Given the description of an element on the screen output the (x, y) to click on. 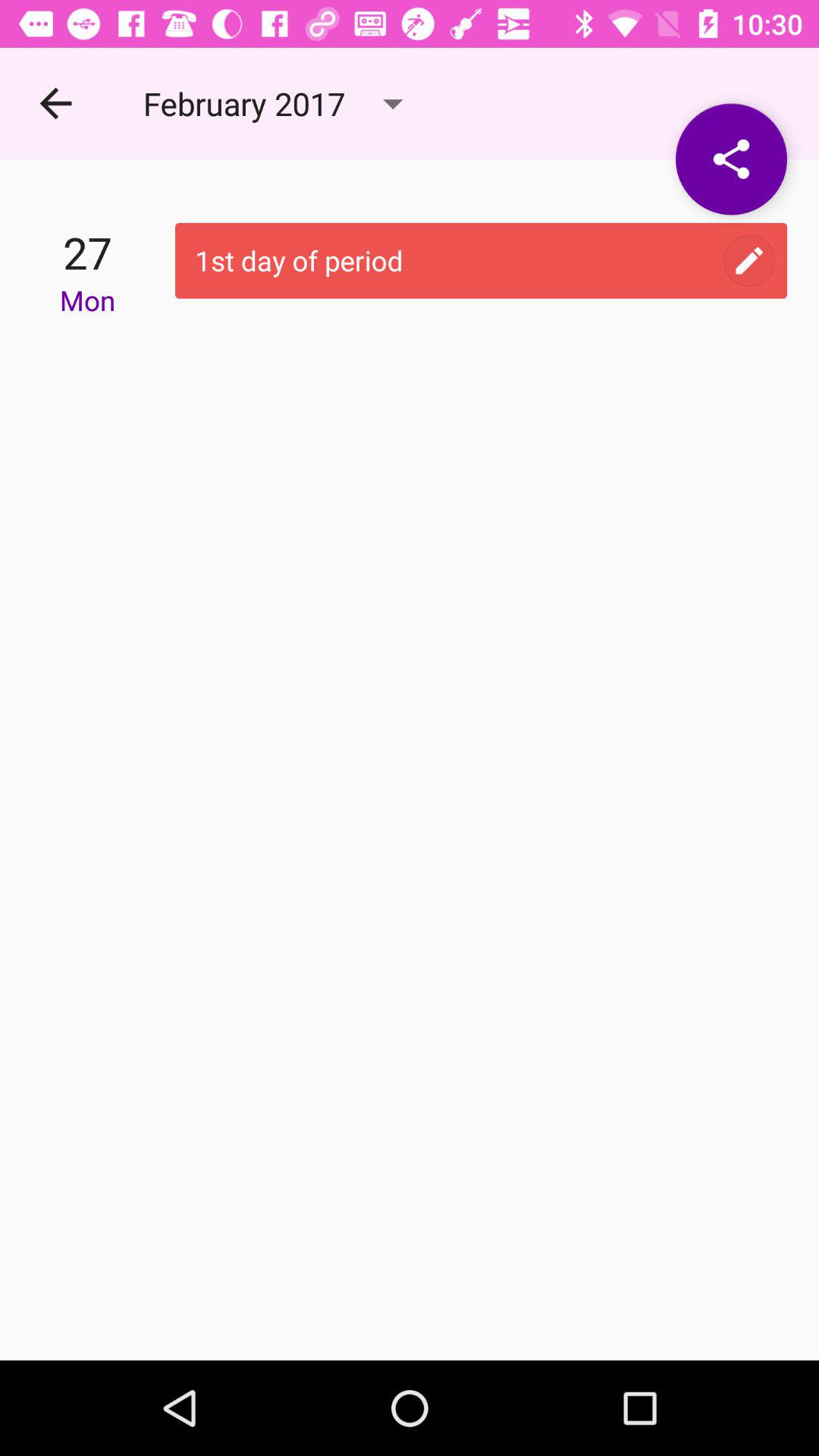
share the articles (731, 158)
